Given the description of an element on the screen output the (x, y) to click on. 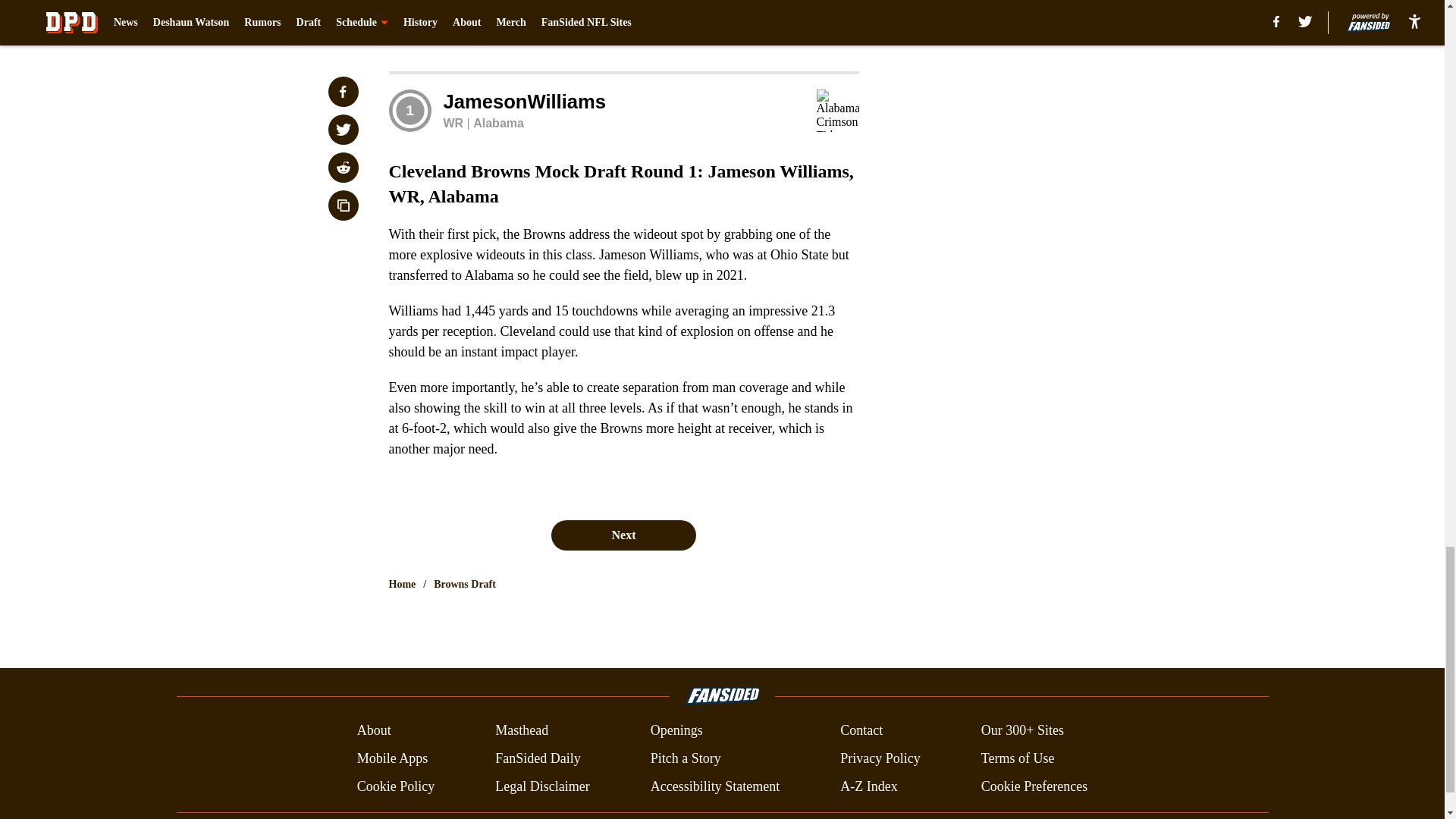
About (373, 730)
Home (401, 584)
Privacy Policy (880, 758)
Contact (861, 730)
Masthead (521, 730)
Next (622, 535)
Pitch a Story (685, 758)
FanSided Daily (537, 758)
Openings (676, 730)
Mobile Apps (392, 758)
